Given the description of an element on the screen output the (x, y) to click on. 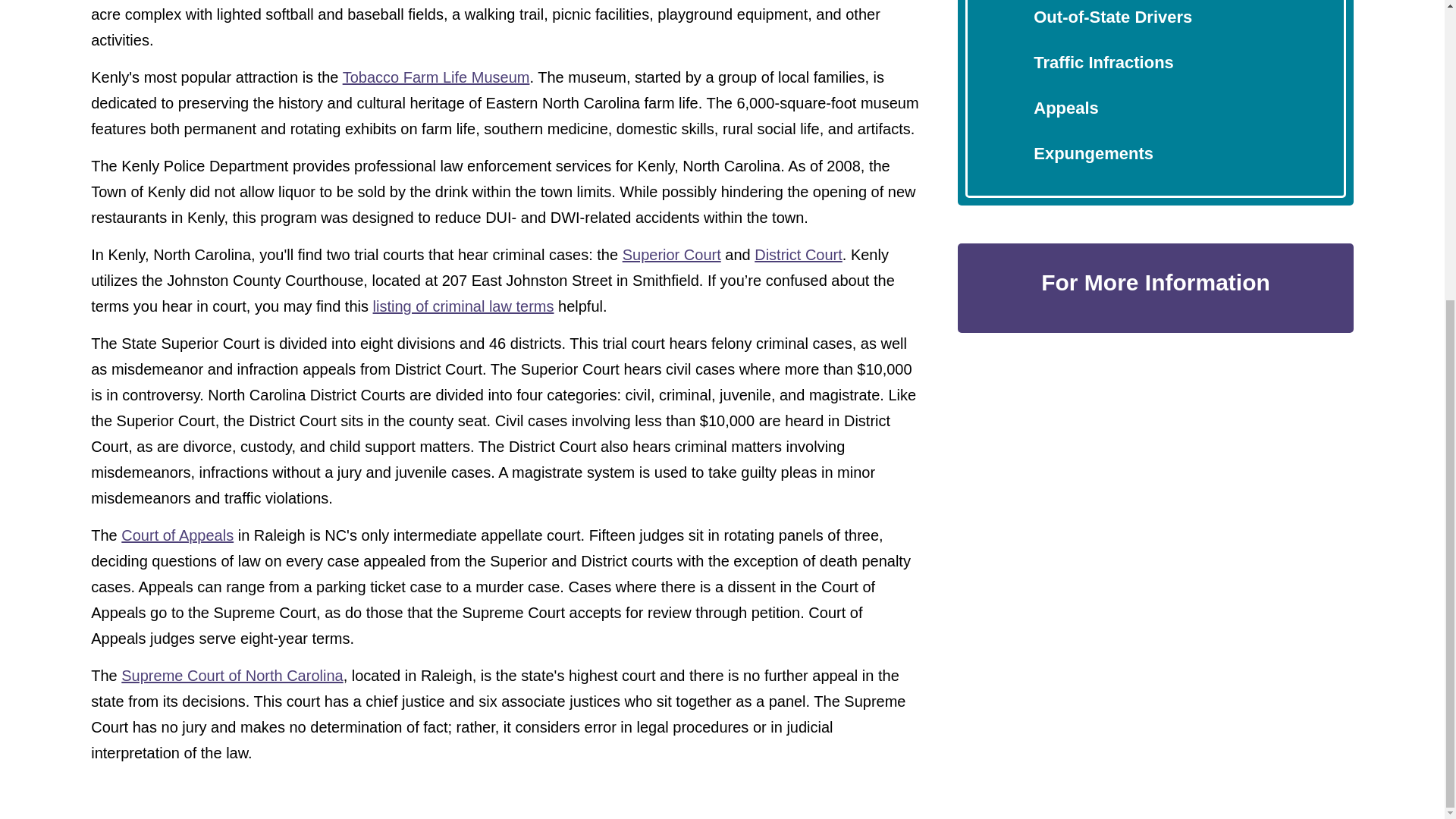
Read more about Expungements (1093, 153)
Read more about Traffic Infractions (1103, 62)
Read more about Appeals (1066, 107)
Read more about Out-of-State Drivers (1112, 16)
